Given the description of an element on the screen output the (x, y) to click on. 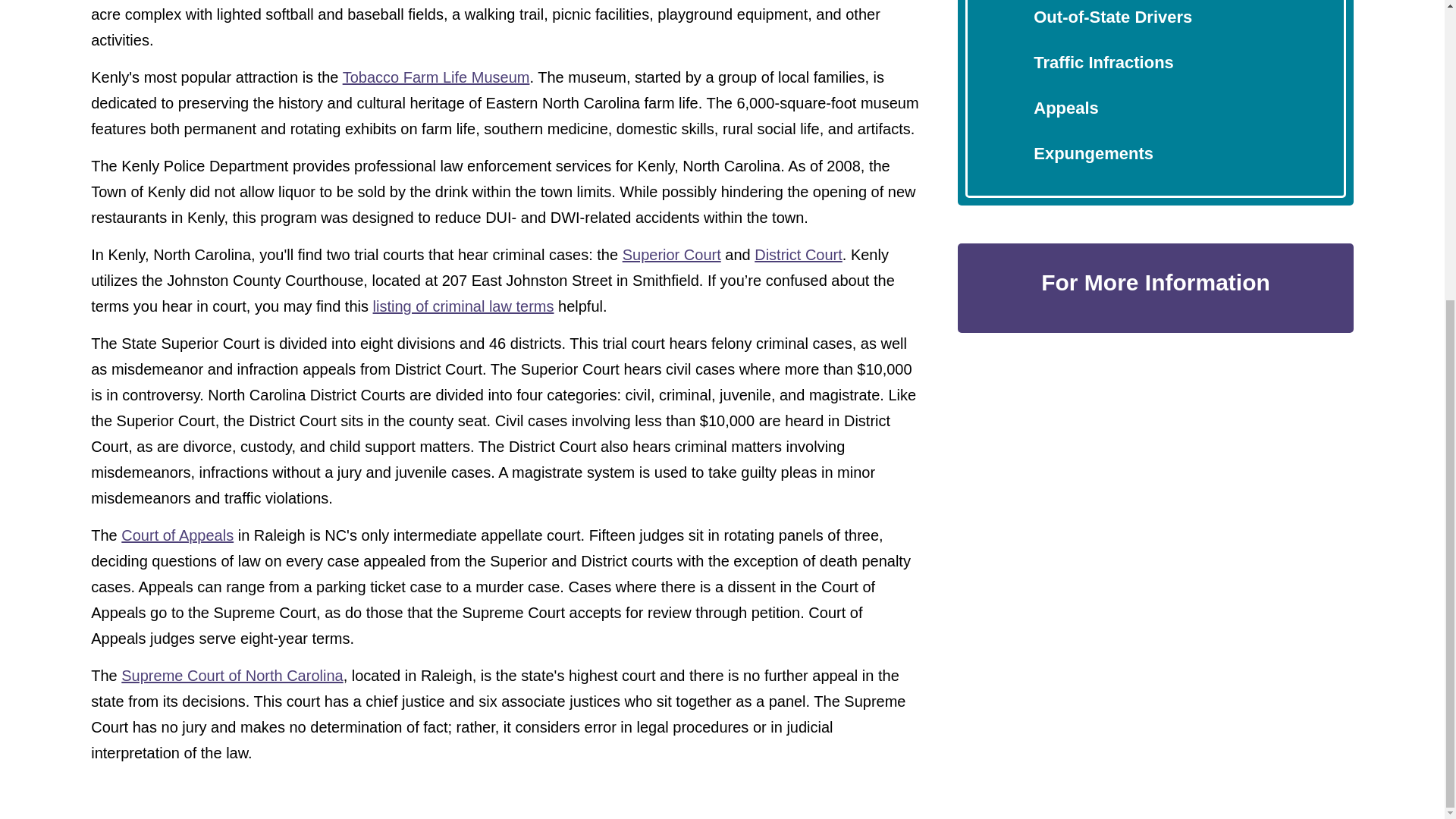
Read more about Expungements (1093, 153)
Read more about Traffic Infractions (1103, 62)
Read more about Appeals (1066, 107)
Read more about Out-of-State Drivers (1112, 16)
